Given the description of an element on the screen output the (x, y) to click on. 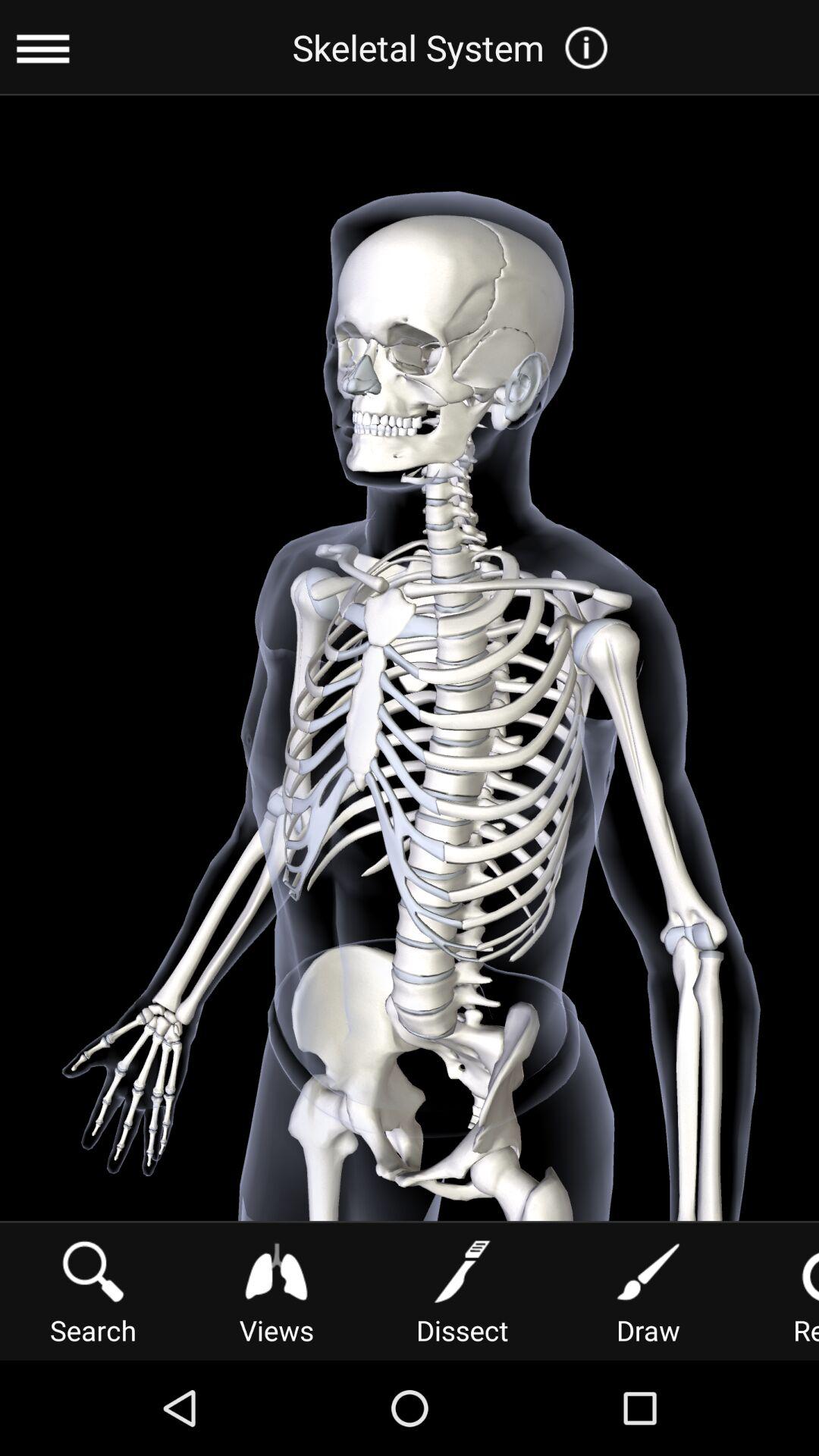
tap the icon next to the draw (462, 1290)
